Given the description of an element on the screen output the (x, y) to click on. 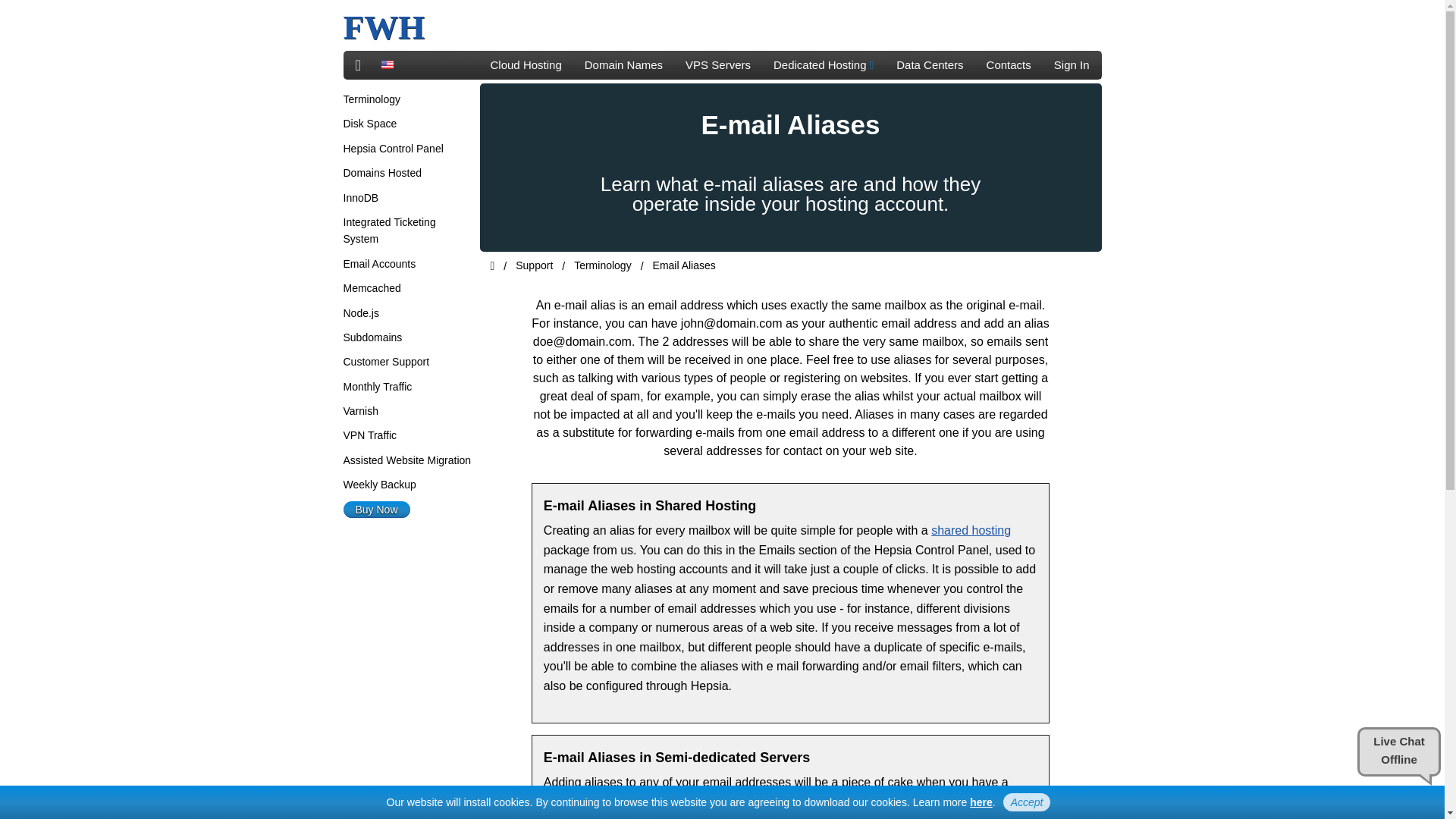
FWH (383, 26)
VPS Servers (717, 64)
InnoDB (360, 197)
Integrated Ticketing System (388, 230)
Customer Support (385, 361)
Varnish (359, 410)
Domains Hosted (382, 173)
VPN Traffic (369, 435)
Node.js (360, 313)
Disk Space (369, 123)
Assisted Website Migration (406, 460)
Live chat offline (1398, 751)
Cloud Hosting (526, 64)
Sign In (1071, 64)
Subdomains (371, 337)
